Given the description of an element on the screen output the (x, y) to click on. 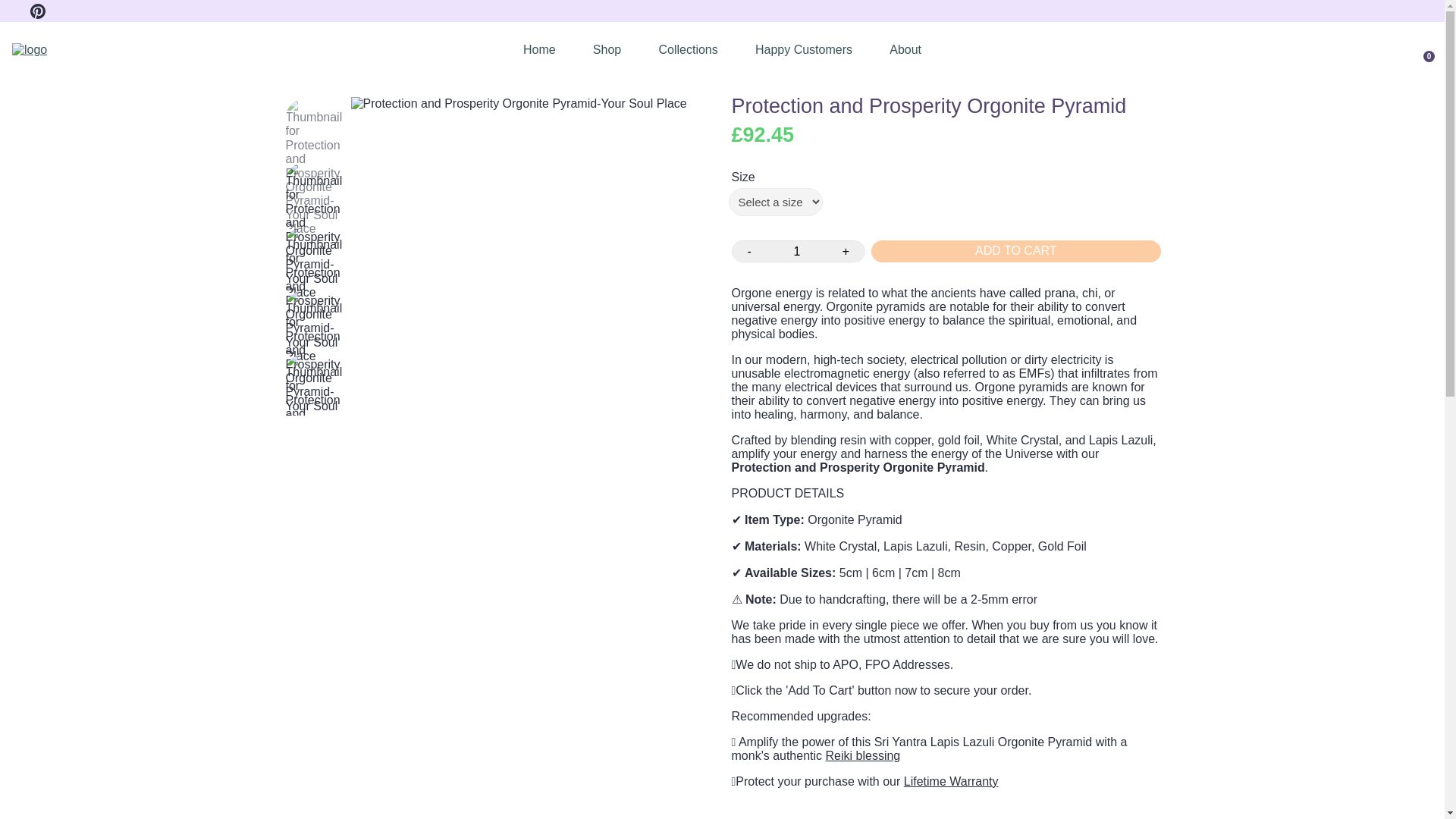
1 (797, 250)
Home (539, 50)
Shop (607, 50)
